Given the description of an element on the screen output the (x, y) to click on. 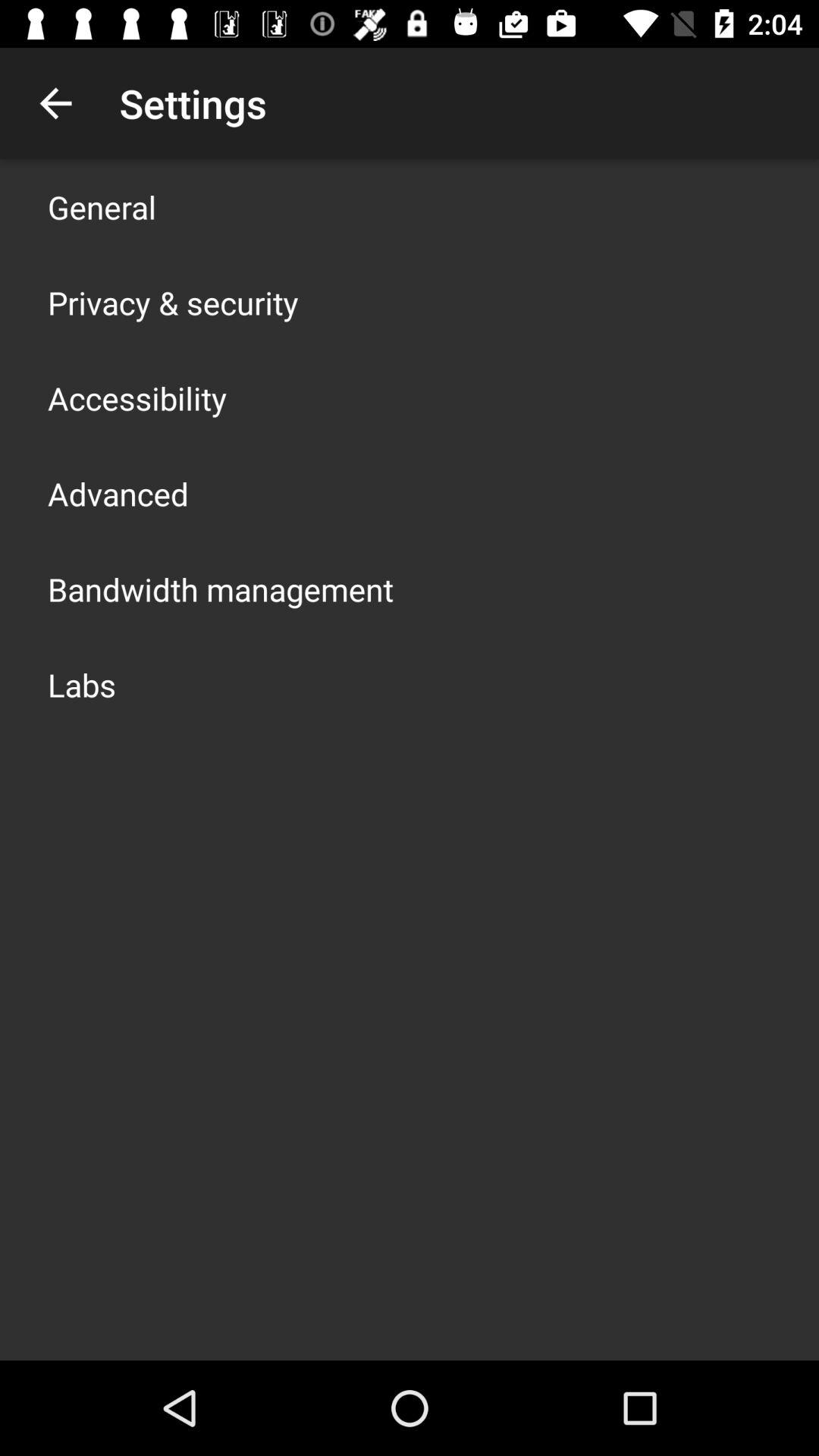
turn off the item above bandwidth management item (117, 493)
